Given the description of an element on the screen output the (x, y) to click on. 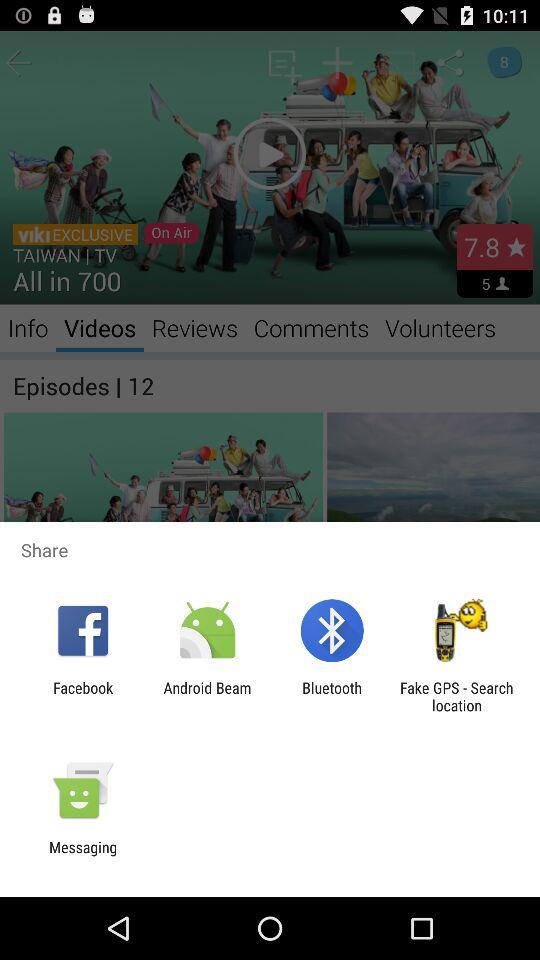
press the item to the right of the android beam icon (331, 696)
